Given the description of an element on the screen output the (x, y) to click on. 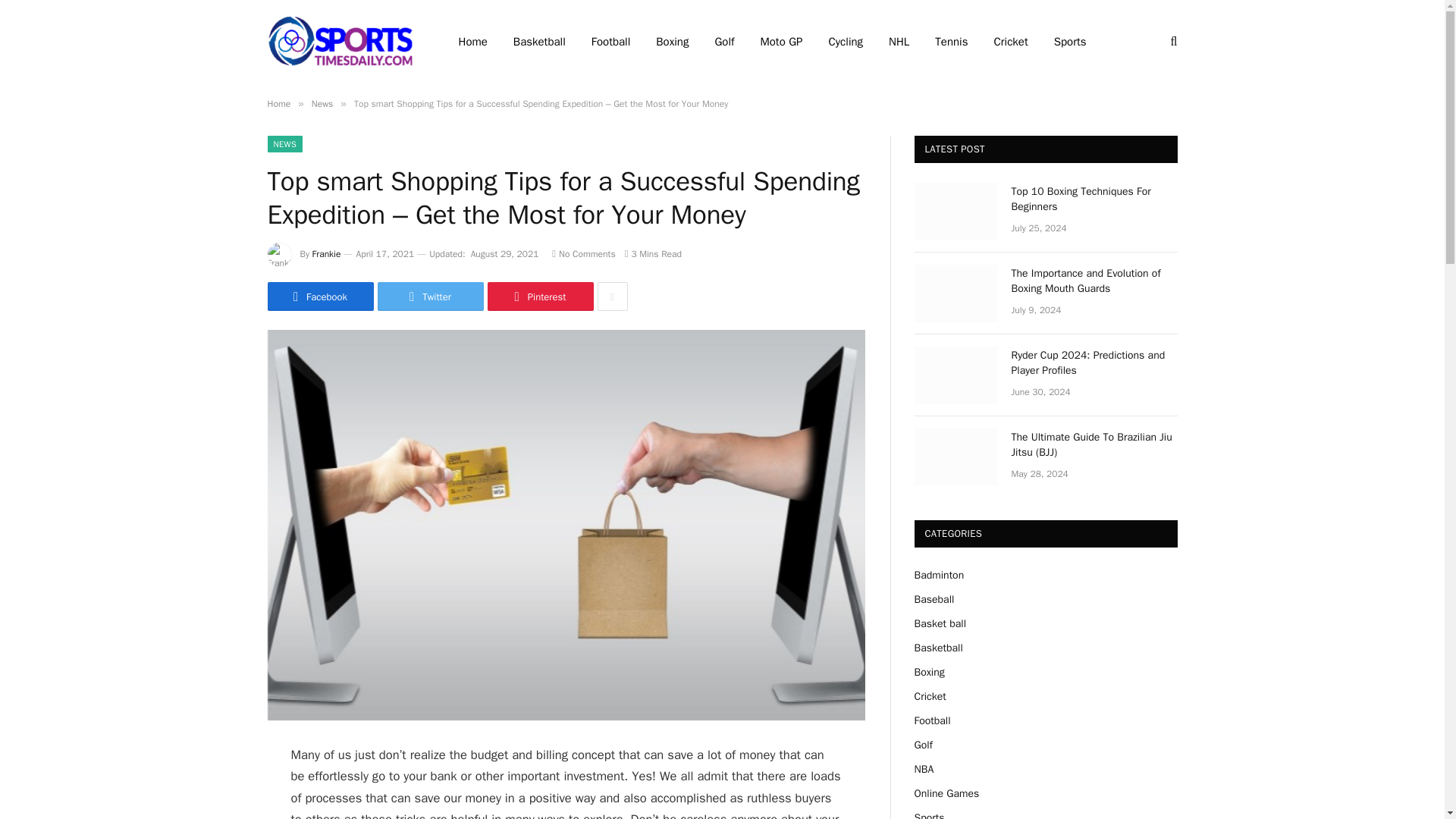
Twitter (430, 296)
Basketball (539, 41)
No Comments (582, 254)
Frankie (326, 254)
News (322, 103)
Home (277, 103)
Facebook (319, 296)
Share on Pinterest (539, 296)
NEWS (284, 143)
Posts by Frankie (326, 254)
